Given the description of an element on the screen output the (x, y) to click on. 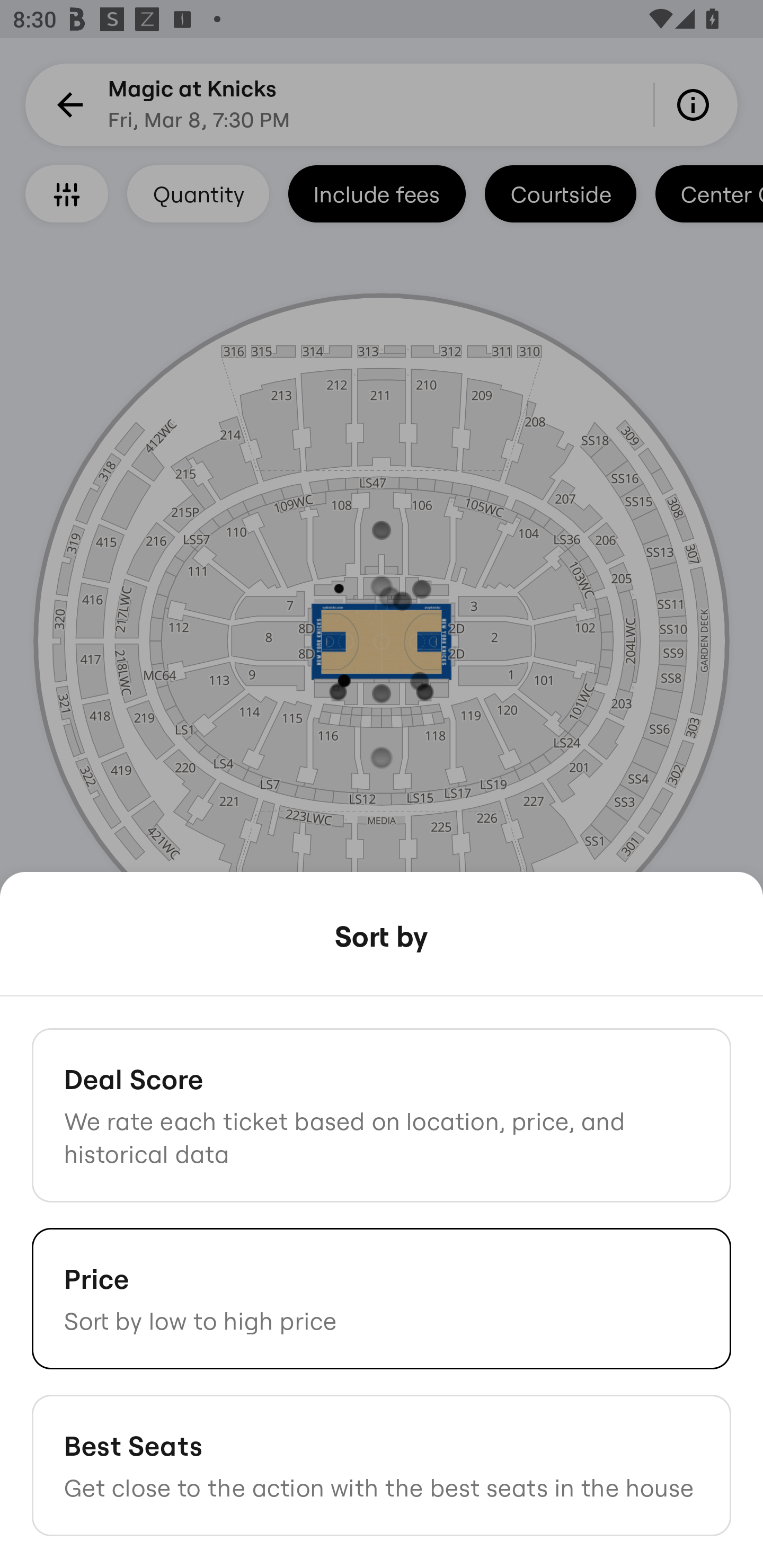
Price Sort by low to high price (381, 1297)
